Given the description of an element on the screen output the (x, y) to click on. 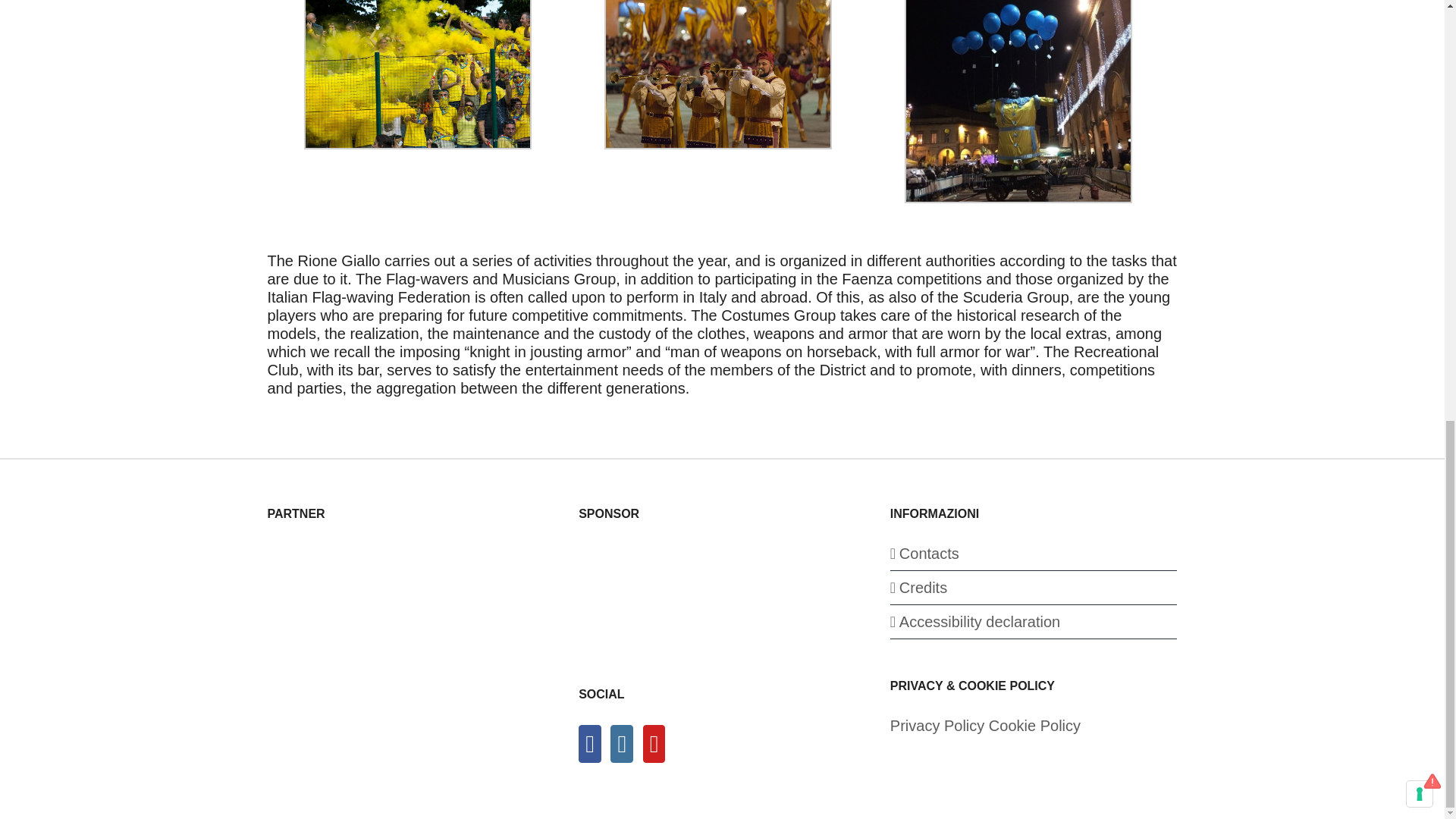
Privacy Policy  (936, 725)
Cookie Policy  (1034, 725)
Sponsor (692, 596)
